Given the description of an element on the screen output the (x, y) to click on. 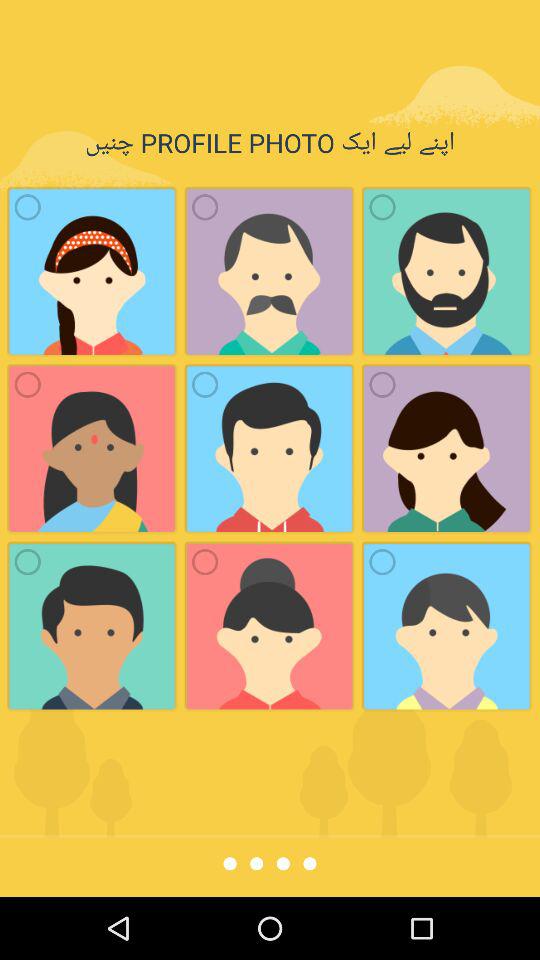
click on fourth page indicator from the left side (309, 863)
click on the first icon in the second row (27, 384)
click on the check box below the third image in first row (382, 384)
select the 2nd image from the bottom right side of the web page (446, 448)
click on radio button which is at the bottom left corner (27, 561)
click the 1st circular icon on the bottom right side of the web page (382, 561)
click on the third image from the left (446, 272)
click on 2nd image in 3rd row (269, 627)
